Given the description of an element on the screen output the (x, y) to click on. 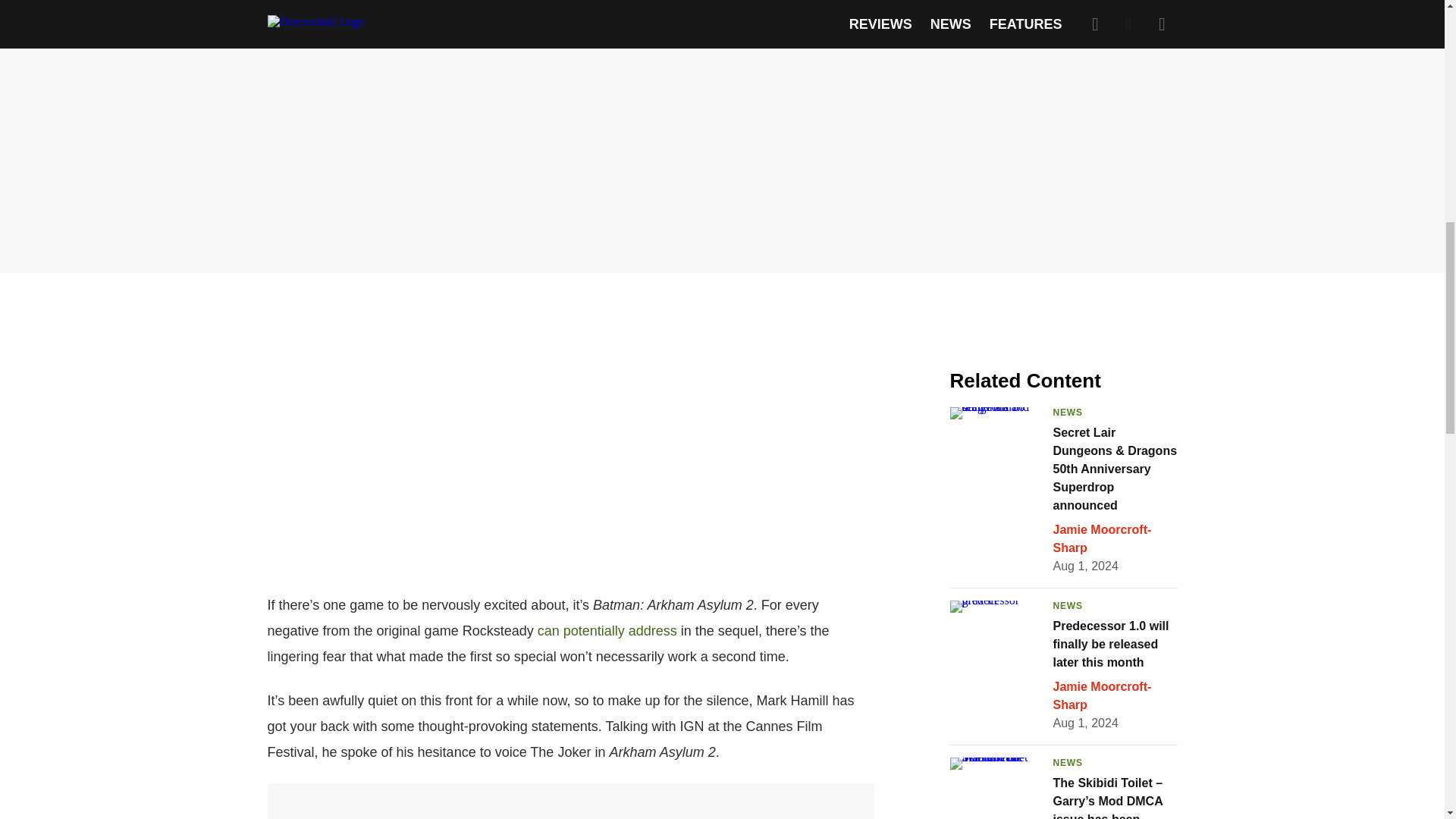
can potentially address (607, 630)
